Given the description of an element on the screen output the (x, y) to click on. 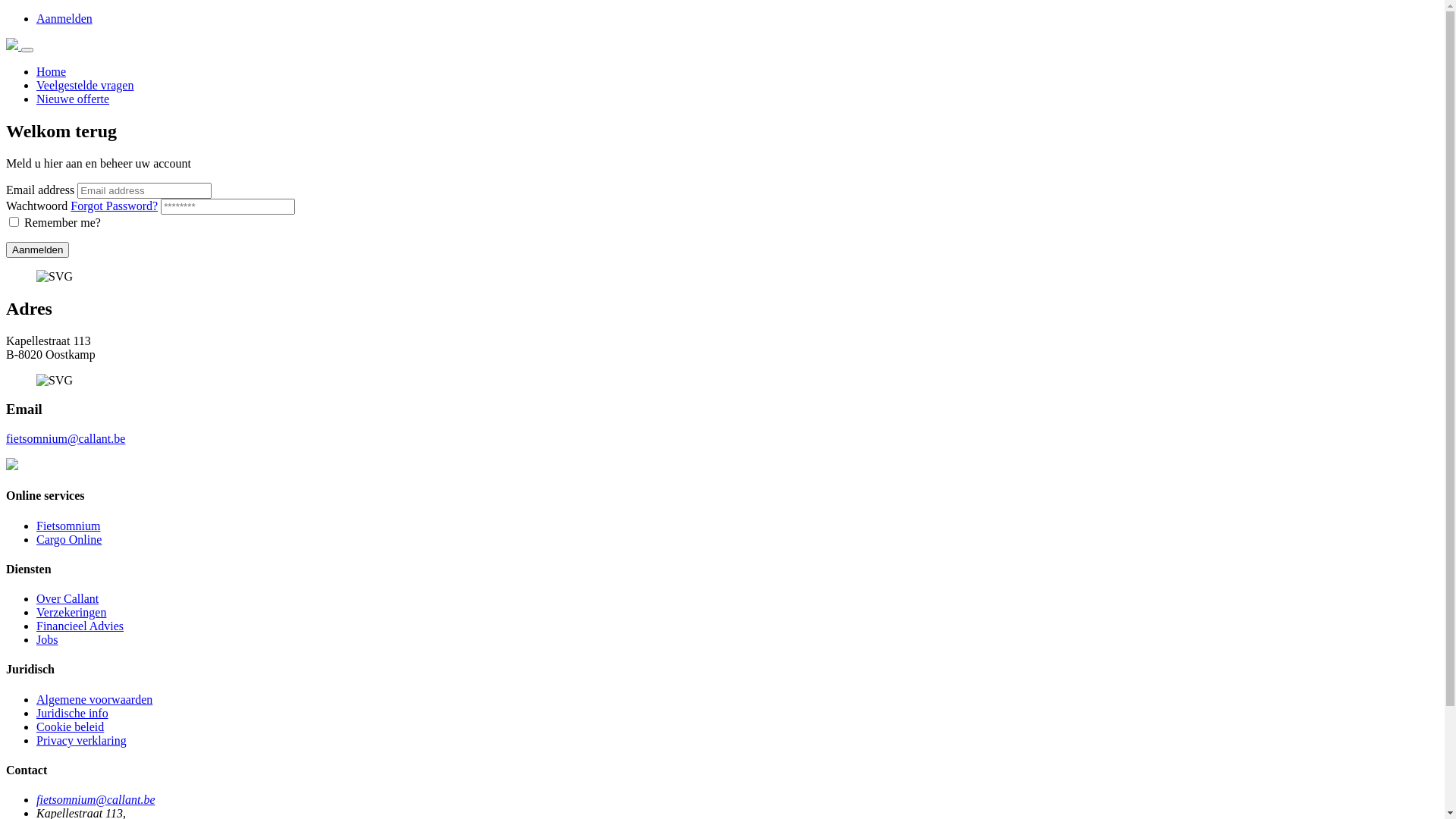
Juridische info Element type: text (72, 712)
Fietsomnium Element type: text (68, 525)
Algemene voorwaarden Element type: text (94, 699)
Cargo Online Element type: text (68, 539)
Financieel Advies Element type: text (79, 625)
Veelgestelde vragen Element type: text (84, 84)
Cookie beleid Element type: text (69, 726)
Home Element type: text (50, 71)
Nieuwe offerte Element type: text (72, 98)
Forgot Password? Element type: text (113, 205)
Verzekeringen Element type: text (71, 611)
fietsomnium@callant.be Element type: text (95, 799)
Over Callant Element type: text (67, 598)
Jobs Element type: text (46, 639)
Privacy verklaring Element type: text (81, 740)
Aanmelden Element type: text (64, 18)
fietsomnium@callant.be Element type: text (65, 438)
Aanmelden Element type: text (37, 249)
